Given the description of an element on the screen output the (x, y) to click on. 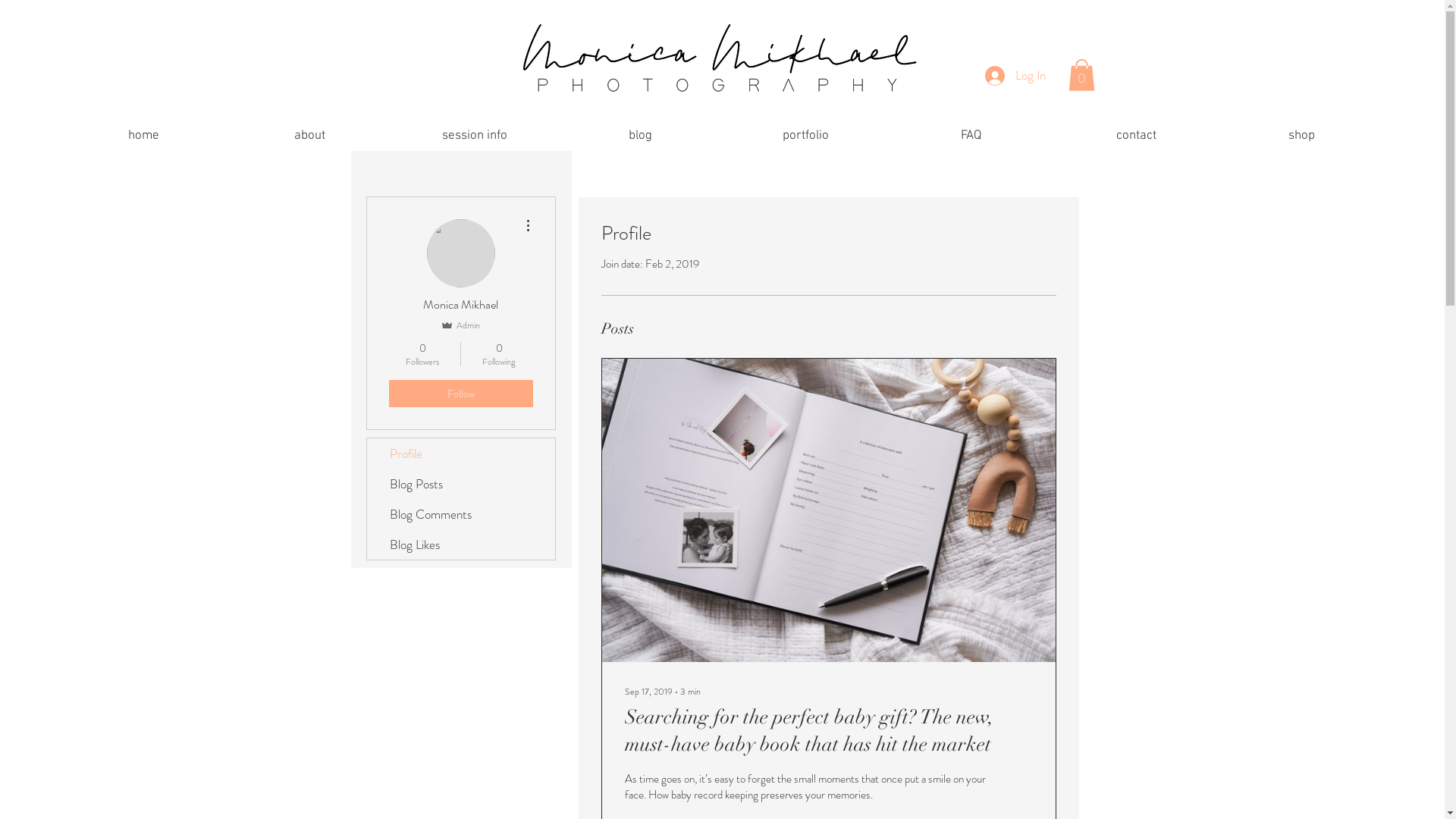
Blog Posts Element type: text (461, 483)
FAQ Element type: text (970, 135)
portfolio Element type: text (805, 135)
0
Followers Element type: text (421, 353)
shop Element type: text (1300, 135)
0 Element type: text (1080, 75)
Log In Element type: text (1014, 74)
Blog Comments Element type: text (461, 513)
0
Following Element type: text (499, 353)
Blog Likes Element type: text (461, 544)
contact Element type: text (1135, 135)
home Element type: text (143, 135)
about Element type: text (309, 135)
Profile Element type: text (461, 453)
blog Element type: text (639, 135)
Follow Element type: text (460, 393)
session info Element type: text (474, 135)
